Given the description of an element on the screen output the (x, y) to click on. 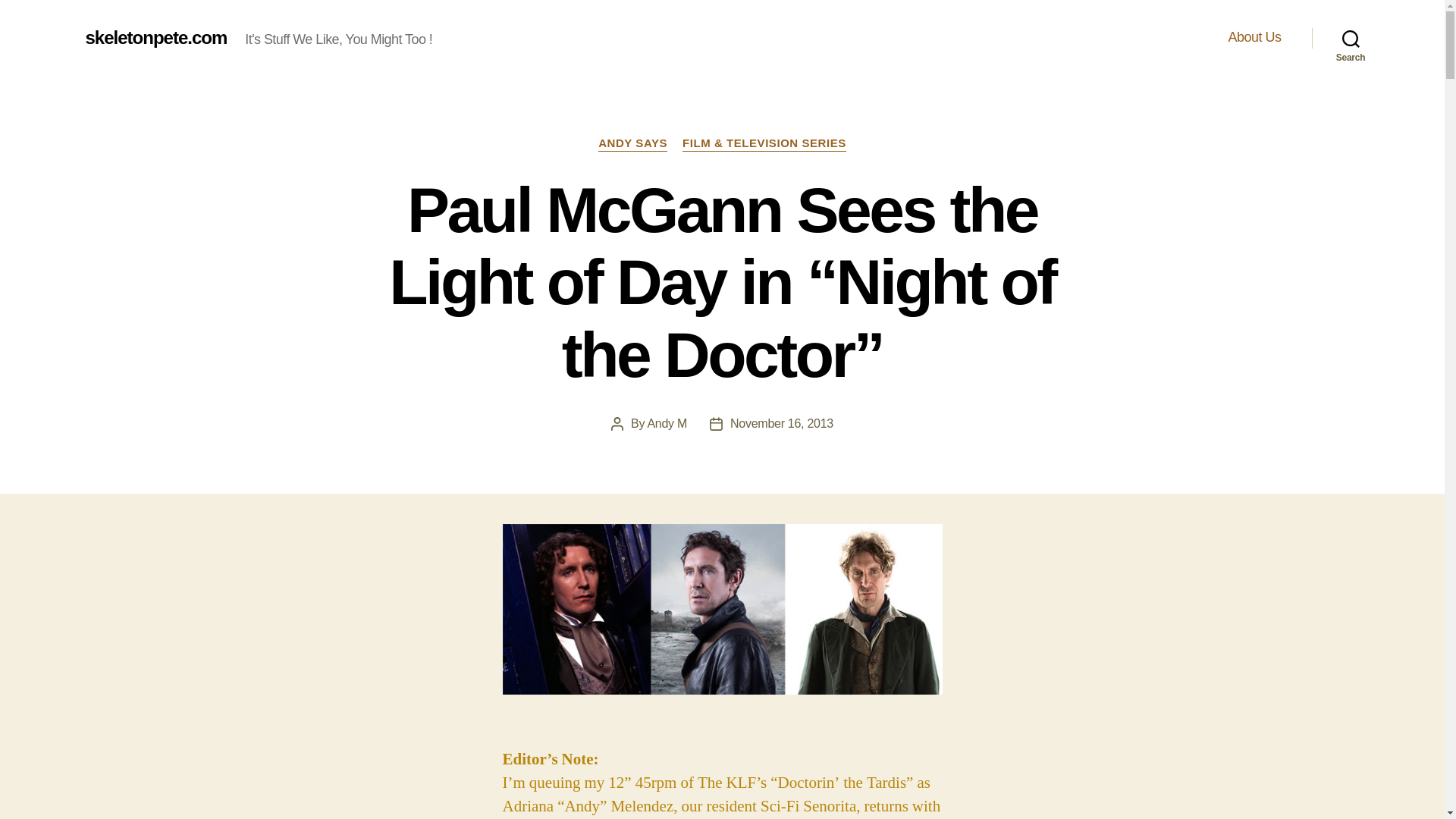
Search (1350, 37)
skeletonpete.com (155, 37)
ANDY SAYS (632, 143)
About Us (1254, 37)
November 16, 2013 (781, 422)
Andy M (666, 422)
